Given the description of an element on the screen output the (x, y) to click on. 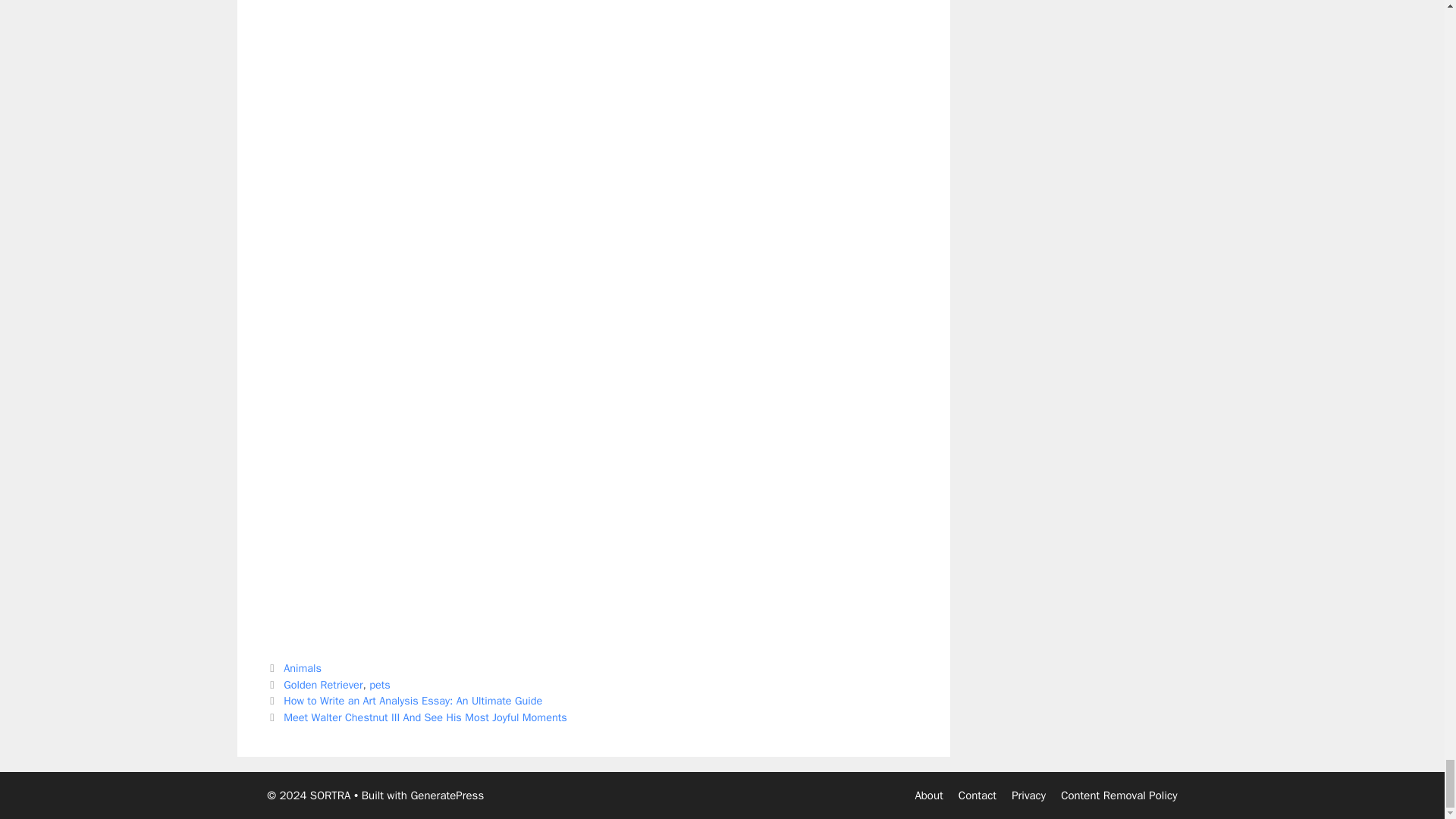
Golden Retriever (322, 684)
Meet Walter Chestnut III And See His Most Joyful Moments (425, 716)
Privacy (1028, 795)
Content Removal Policy (1118, 795)
Contact (976, 795)
How to Write an Art Analysis Essay: An Ultimate Guide (412, 700)
Animals (302, 667)
GeneratePress (446, 795)
About (928, 795)
pets (379, 684)
